Given the description of an element on the screen output the (x, y) to click on. 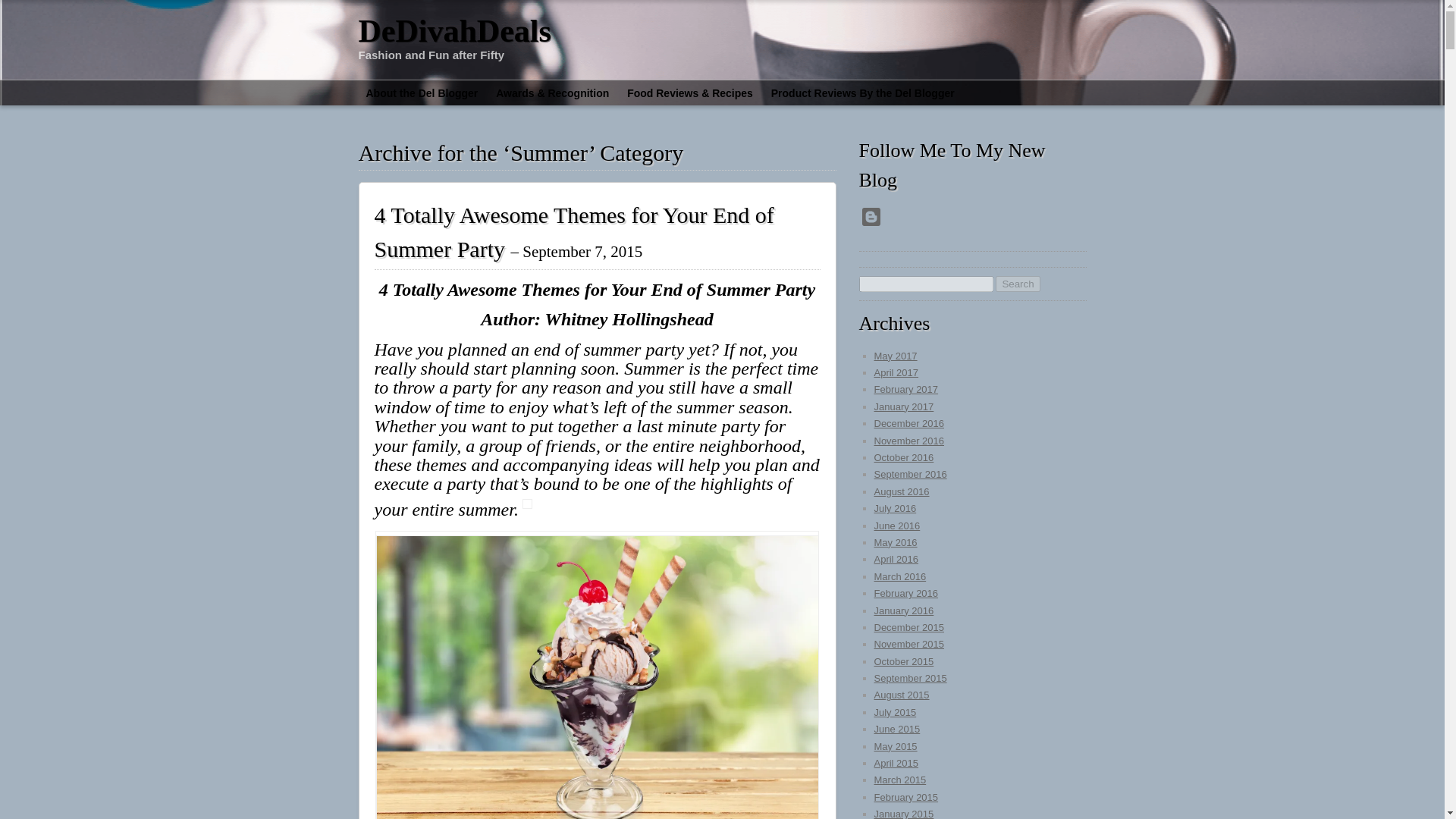
About the Del Blogger (421, 92)
Product Reviews By the Del Blogger (862, 92)
Search (1017, 283)
DeDivahDeals (454, 30)
